Given the description of an element on the screen output the (x, y) to click on. 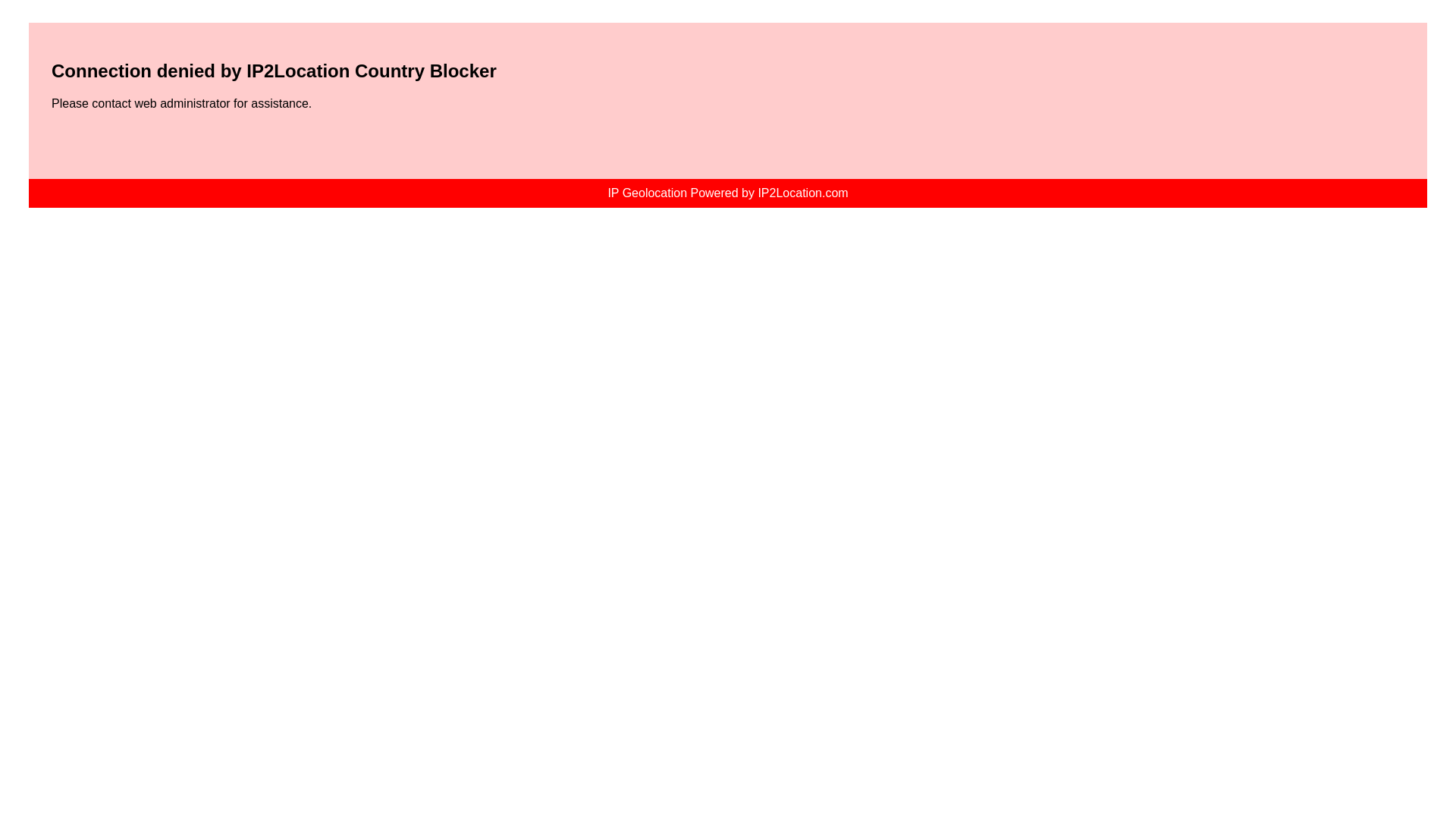
IP Geolocation Powered by IP2Location.com Element type: text (727, 192)
